Given the description of an element on the screen output the (x, y) to click on. 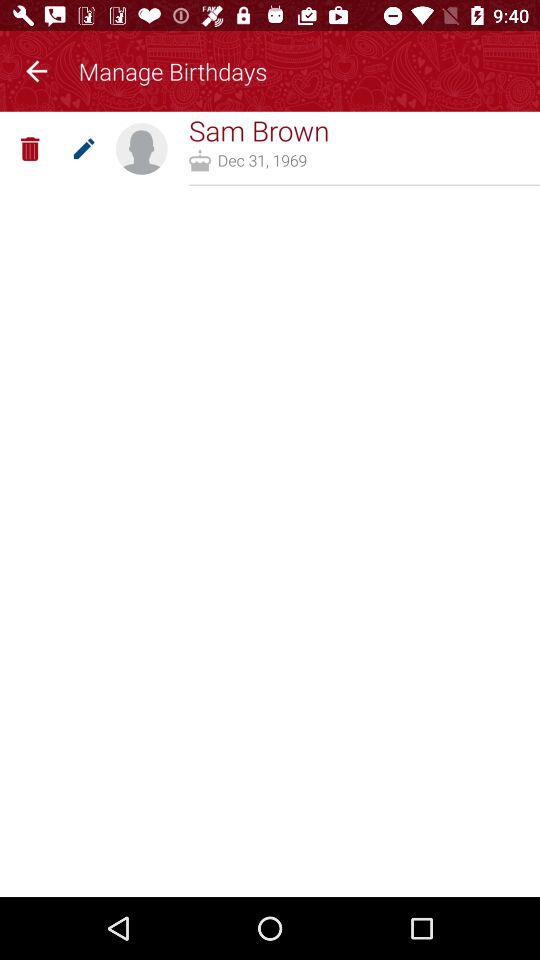
scroll until the sam brown icon (258, 130)
